Given the description of an element on the screen output the (x, y) to click on. 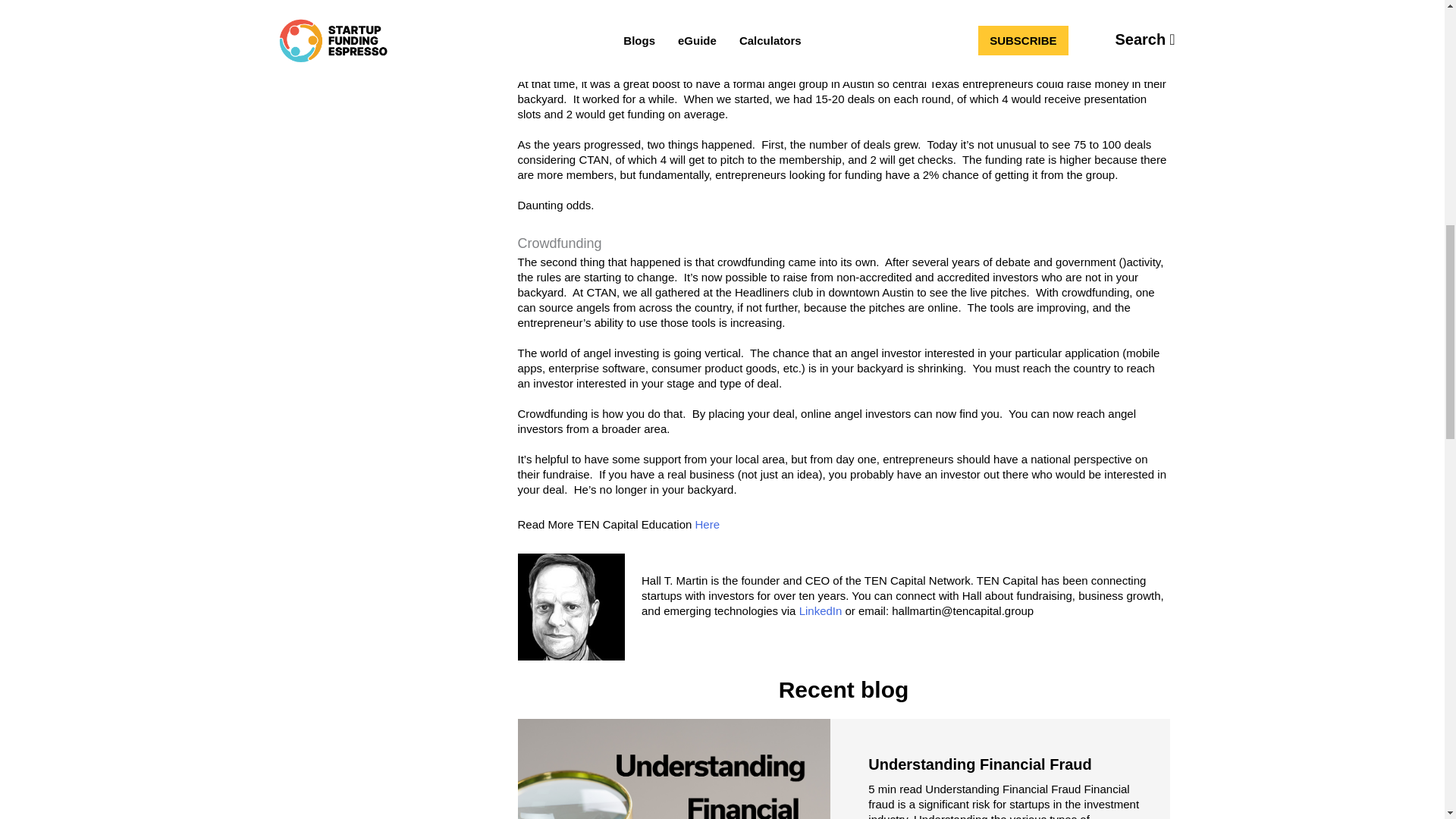
Here (707, 523)
LinkedIn (821, 610)
Understanding Financial Fraud (978, 764)
